Given the description of an element on the screen output the (x, y) to click on. 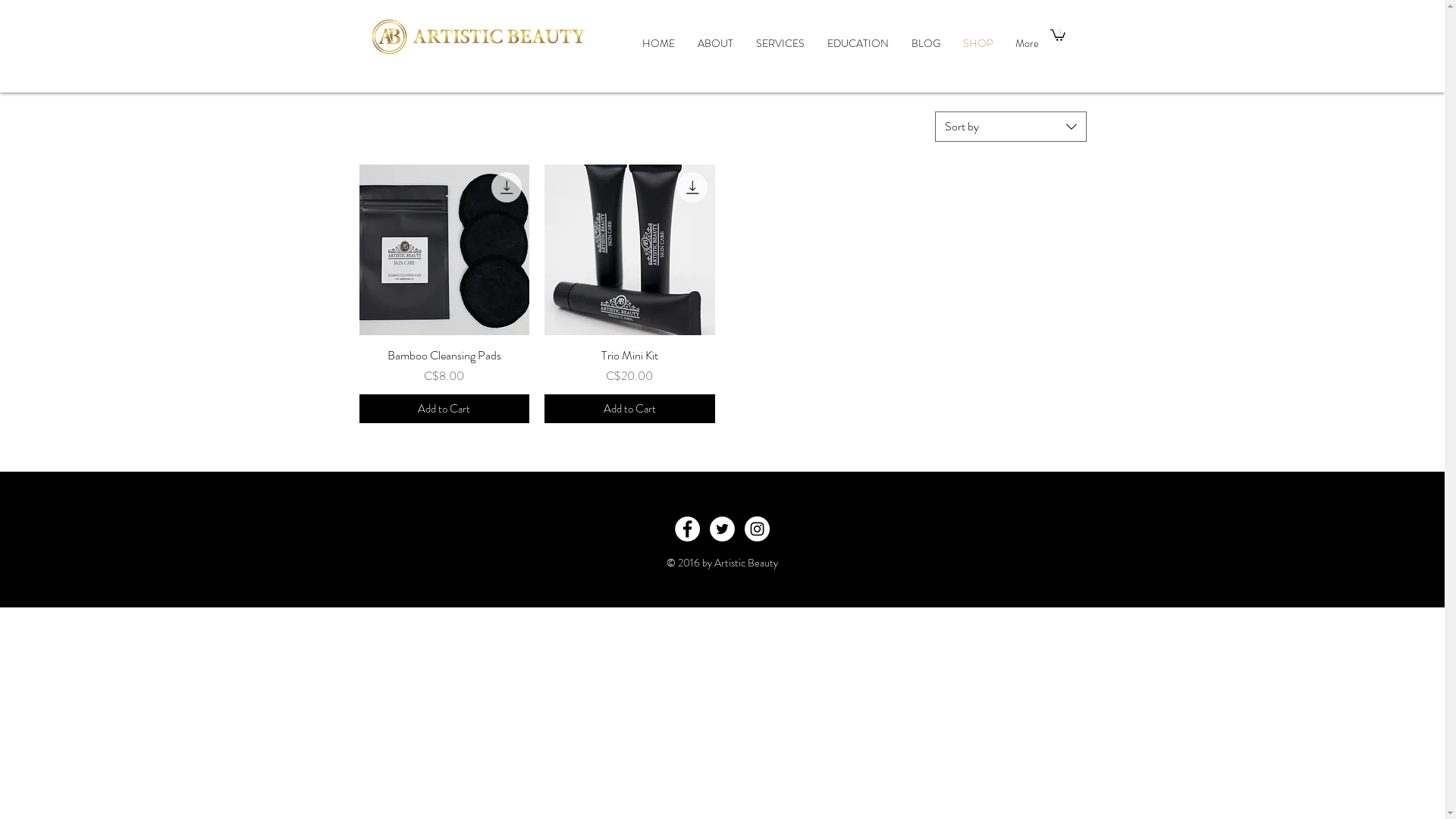
Add to Cart Element type: text (629, 408)
0 Element type: text (1056, 34)
SHOP Element type: text (976, 43)
BLOG Element type: text (924, 43)
Add to Cart Element type: text (444, 408)
EDUCATION Element type: text (857, 43)
Trio Mini Kit
Price
C$20.00 Element type: text (629, 366)
SERVICES Element type: text (779, 43)
Sort by Element type: text (1009, 126)
HOME Element type: text (658, 43)
Bamboo Cleansing Pads
Price
C$8.00 Element type: text (444, 366)
ABOUT Element type: text (714, 43)
